Given the description of an element on the screen output the (x, y) to click on. 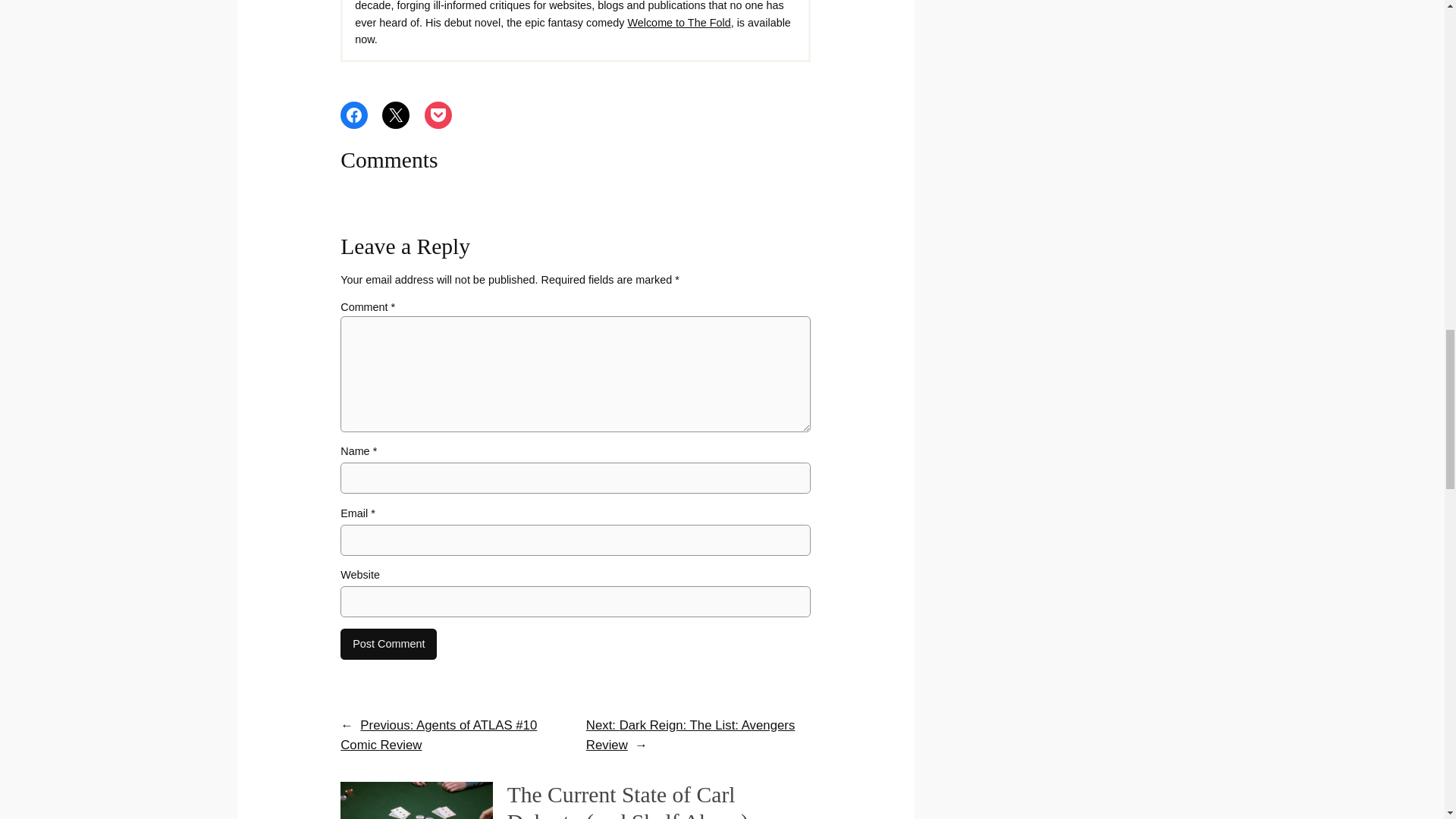
Share on X (395, 114)
Share on Facebook (354, 114)
Welcome to The Fold (678, 22)
Post Comment (388, 644)
Share on Pocket (438, 114)
